Given the description of an element on the screen output the (x, y) to click on. 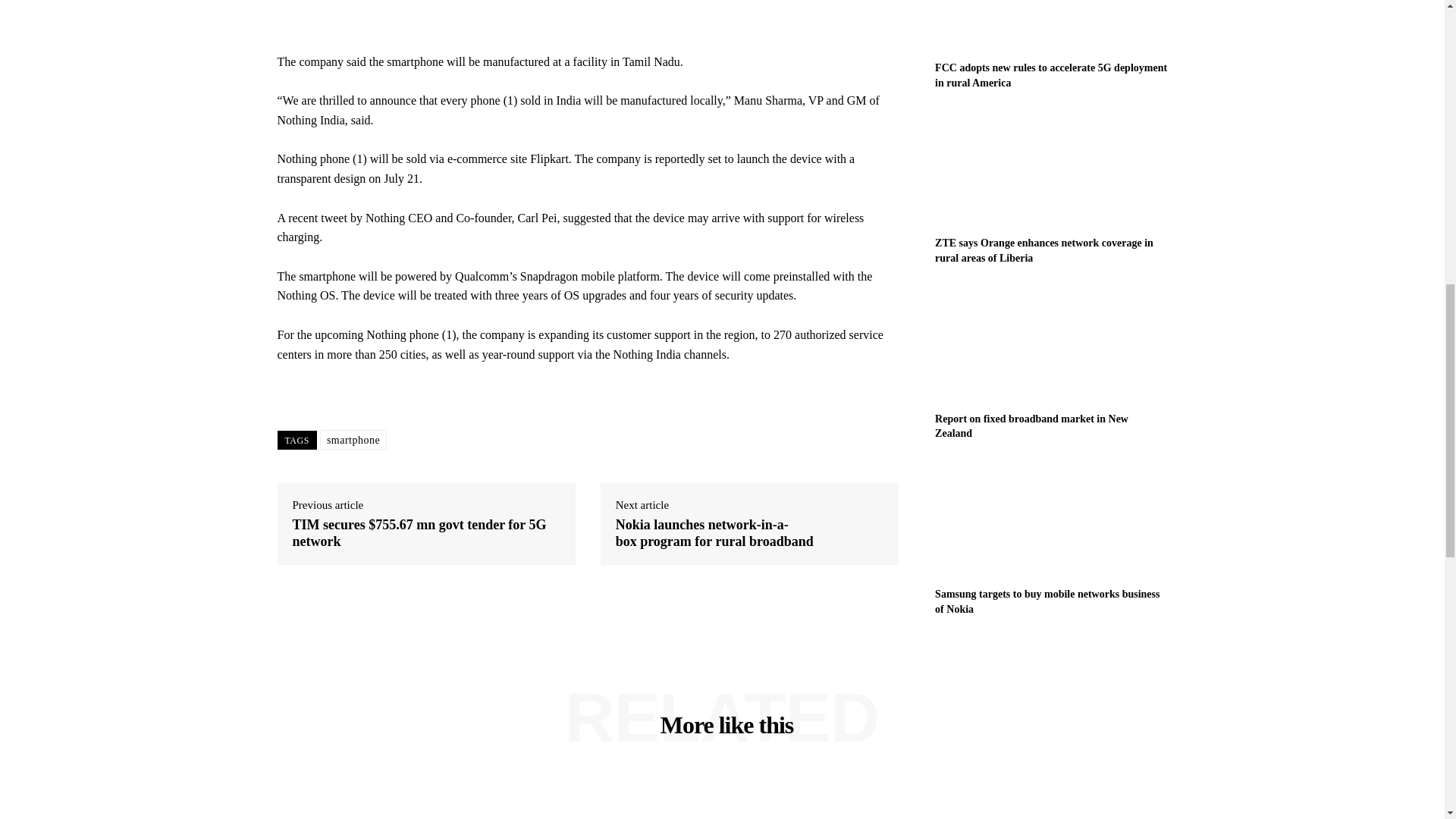
smartphone (353, 439)
Samsung targets to buy mobile networks business of Nokia (1050, 519)
Report on fixed broadband market in New Zealand (1050, 343)
Report on fixed broadband market in New Zealand (1031, 426)
Report on fixed broadband market in New Zealand (1031, 426)
